Given the description of an element on the screen output the (x, y) to click on. 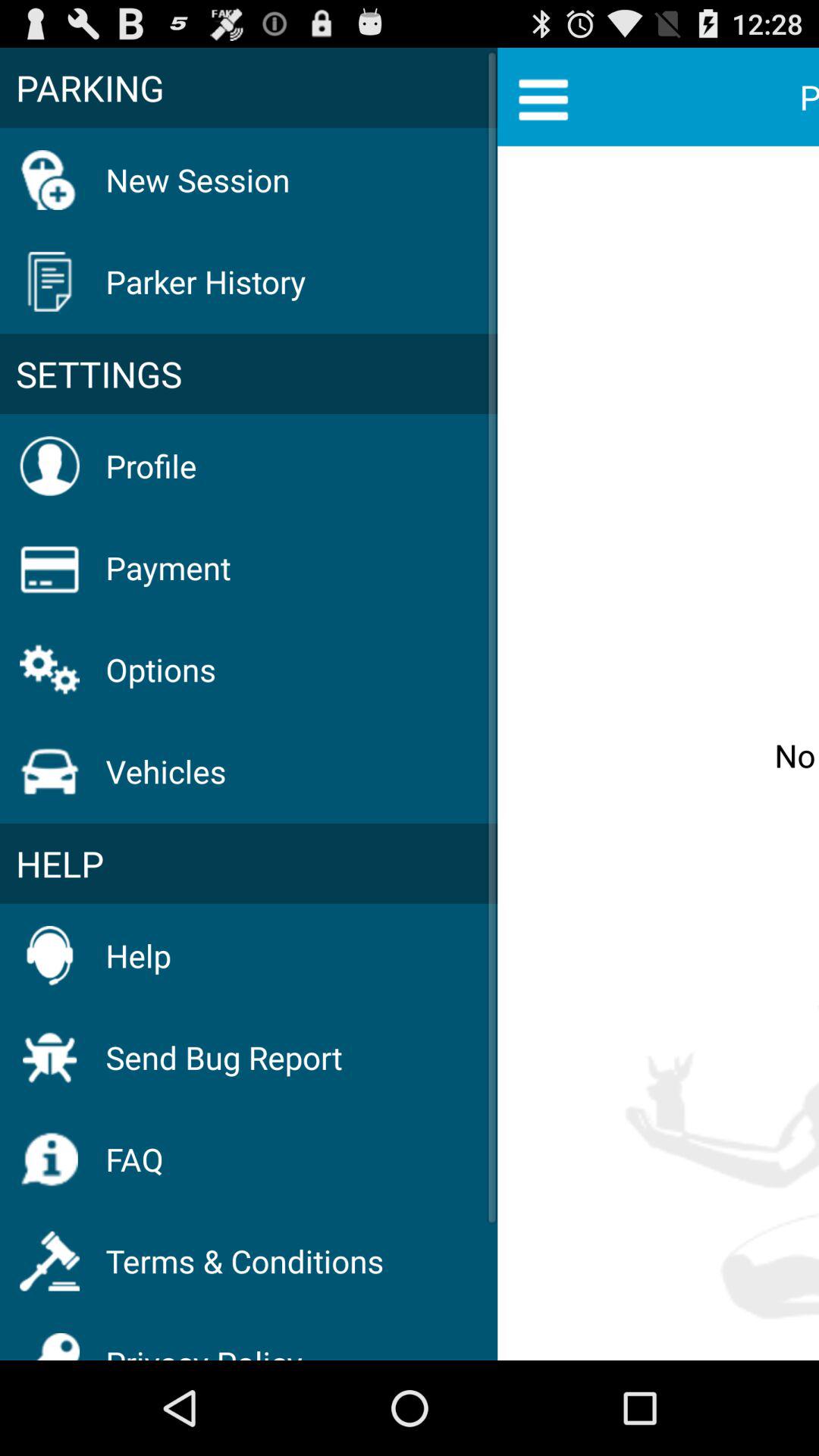
launch the item below profile icon (167, 567)
